Given the description of an element on the screen output the (x, y) to click on. 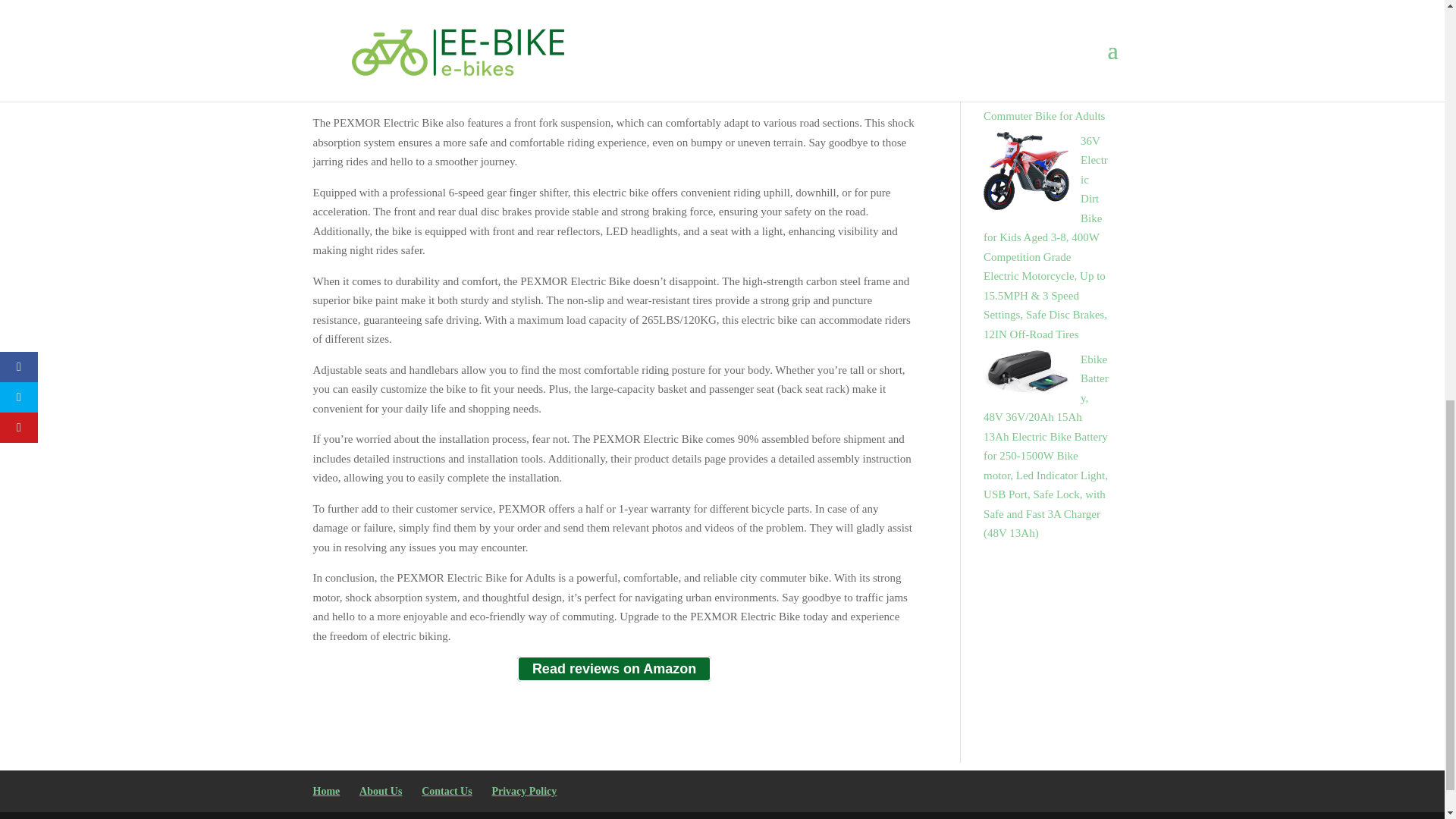
Read reviews on Amazon (613, 669)
Privacy Policy (524, 790)
Home (326, 790)
About Us (380, 790)
Contact Us (446, 790)
